Given the description of an element on the screen output the (x, y) to click on. 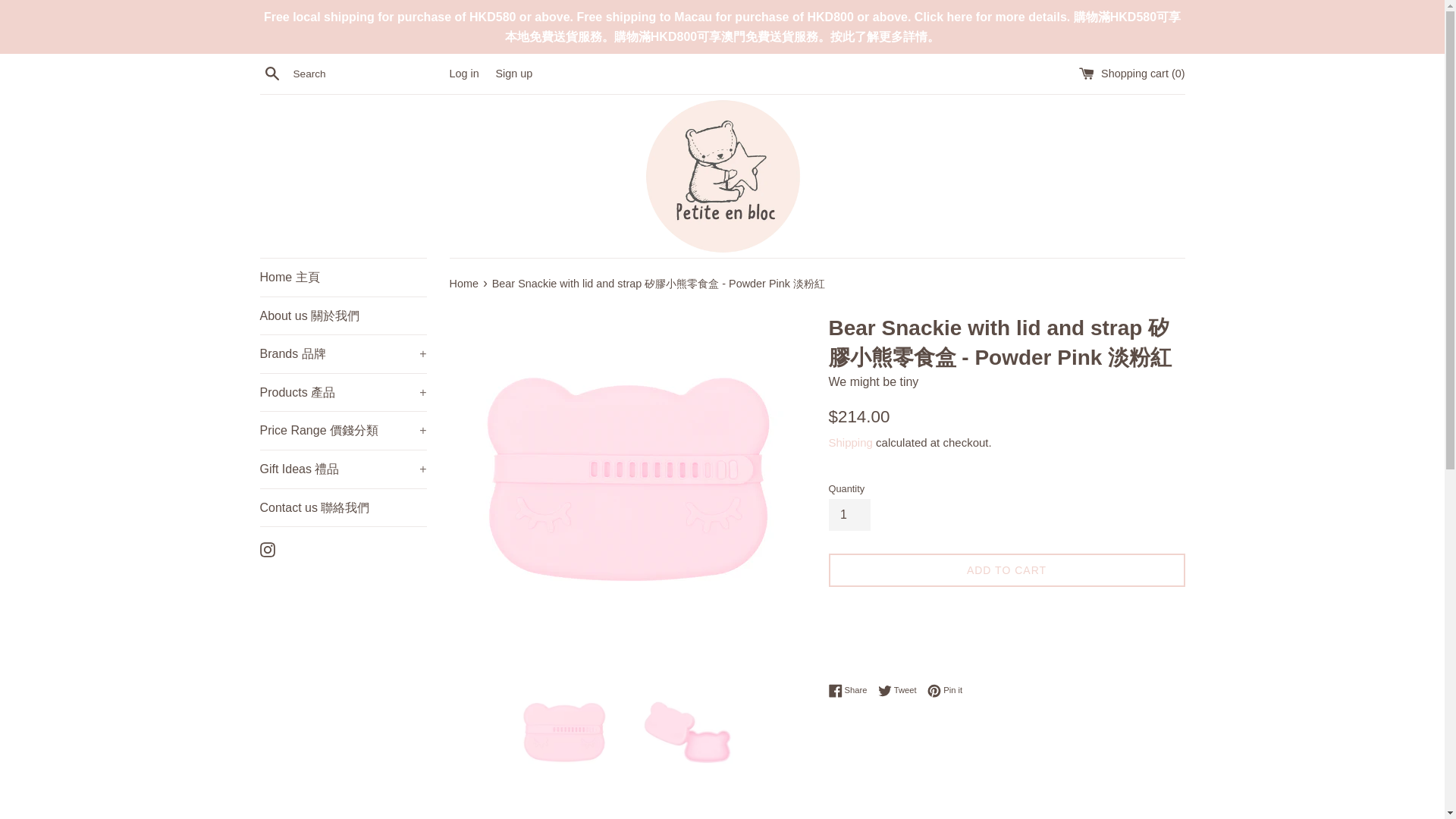
Tweet on Twitter (900, 690)
Back to the frontpage (464, 283)
Share on Facebook (851, 690)
Pin on Pinterest (944, 690)
1 (848, 514)
Search (271, 73)
Petite en bloc on Instagram (267, 548)
Sign up (513, 73)
Log in (463, 73)
